Given the description of an element on the screen output the (x, y) to click on. 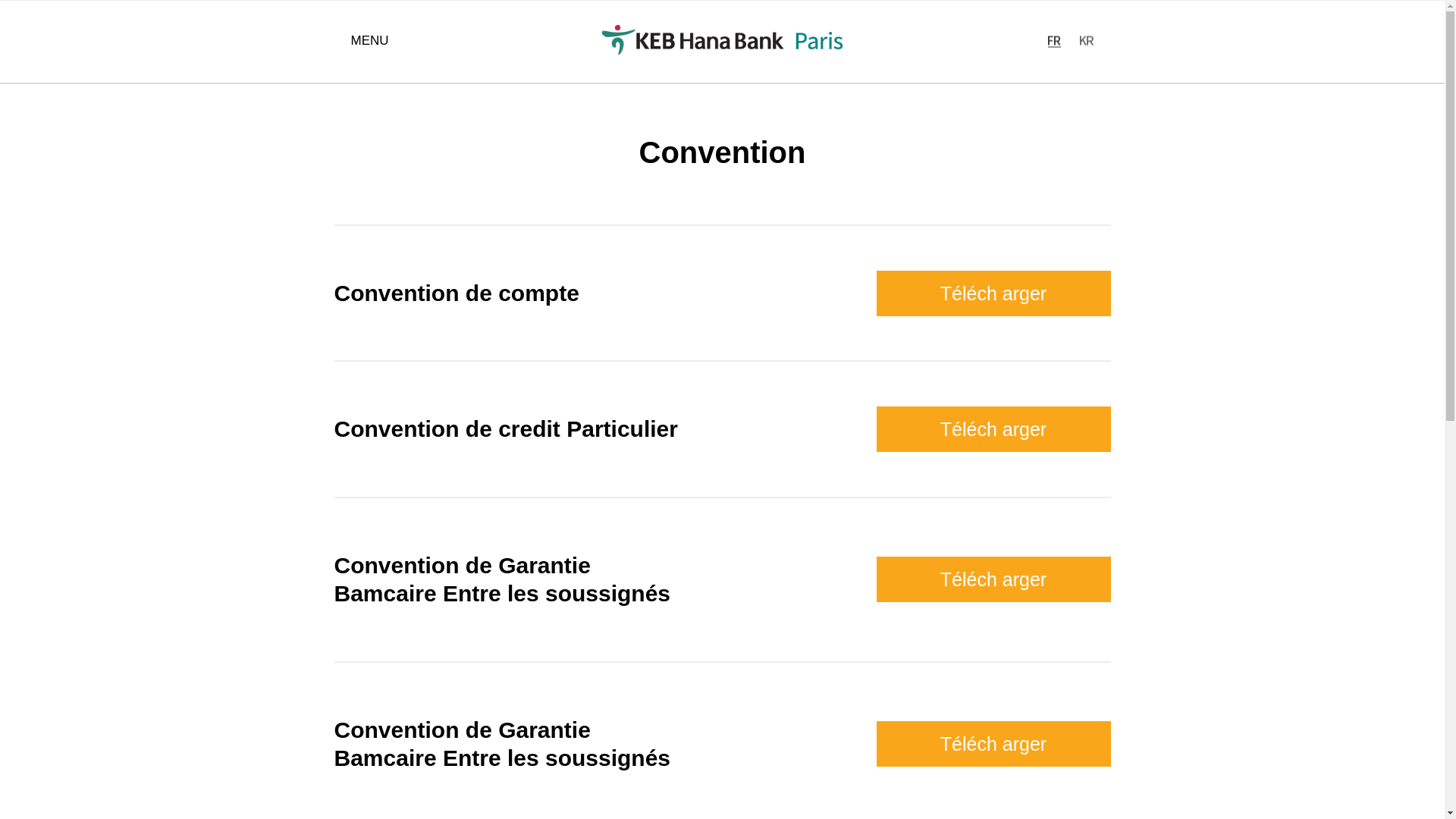
KR Element type: text (1086, 41)
MENU Element type: text (369, 40)
EN Element type: text (1055, 41)
